Given the description of an element on the screen output the (x, y) to click on. 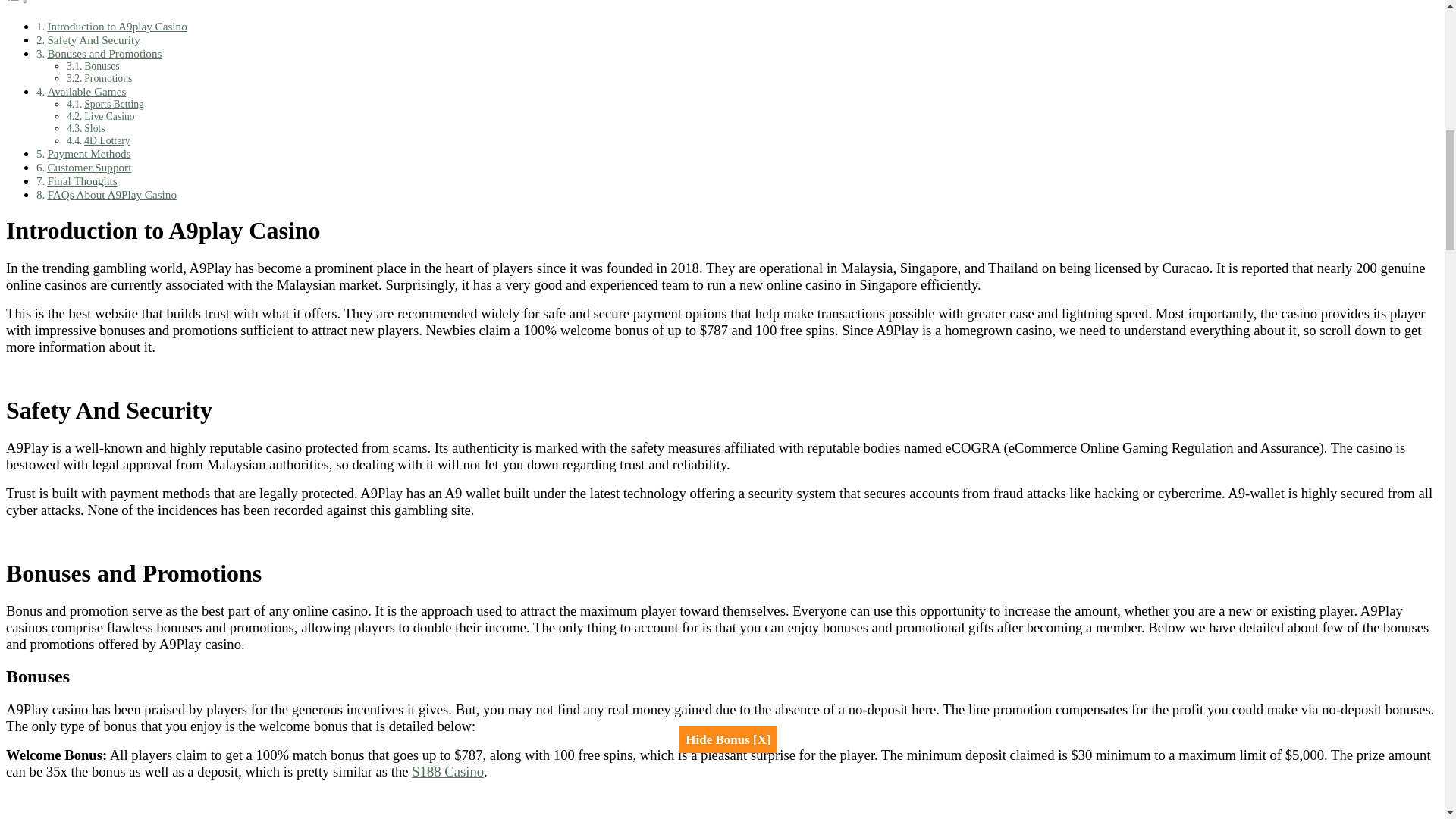
Slots (94, 128)
Customer Support (88, 166)
Safety And Security (92, 39)
Introduction to A9play Casino (116, 25)
Payment Methods (88, 153)
Customer Support (88, 166)
4D Lottery (106, 140)
Sports Betting (114, 103)
Live Casino (108, 116)
Bonuses (101, 66)
Final Thoughts (81, 180)
Available Games (85, 91)
Available Games (85, 91)
Live Casino (108, 116)
Safety And Security (92, 39)
